Given the description of an element on the screen output the (x, y) to click on. 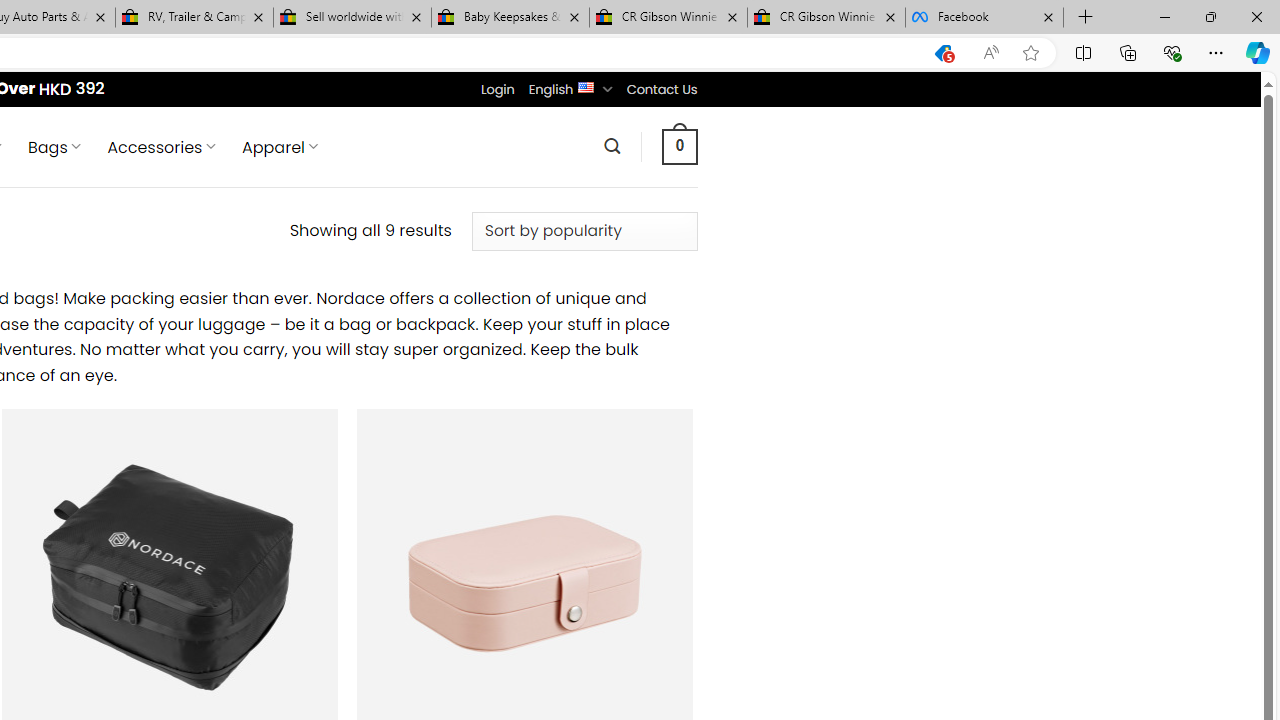
  0   (679, 146)
Facebook (984, 17)
Close tab (1048, 16)
Shop order (584, 231)
Search (612, 146)
Contact Us (661, 89)
Minimize (1164, 16)
Close (1256, 16)
RV, Trailer & Camper Steps & Ladders for sale | eBay (194, 17)
Login (497, 89)
Copilot (Ctrl+Shift+.) (1258, 52)
